Given the description of an element on the screen output the (x, y) to click on. 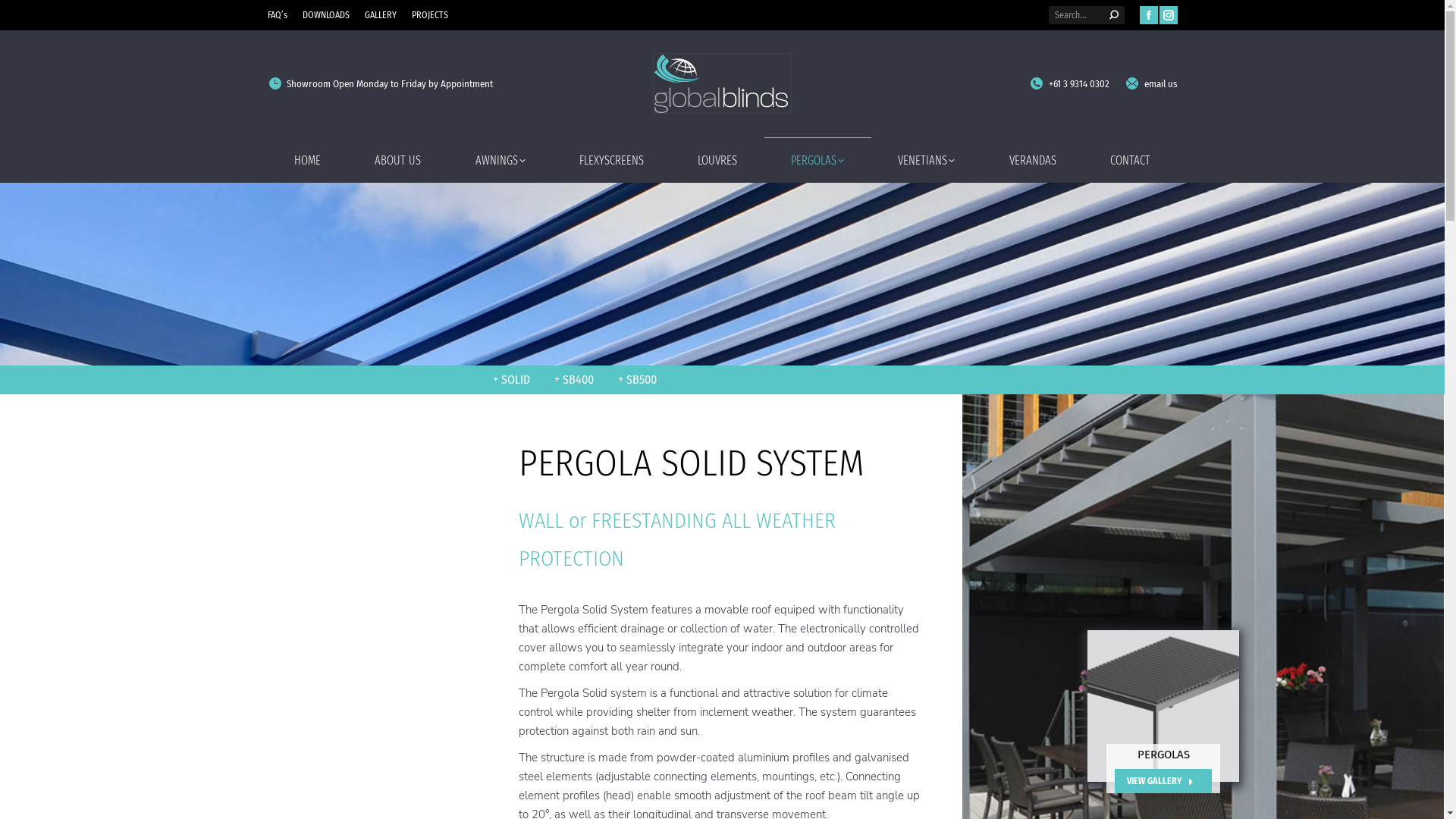
+ SB400 Element type: text (573, 379)
PROJECTS Element type: text (429, 14)
VIEW GALLERY Element type: text (1162, 780)
VENETIANS Element type: text (926, 159)
PERGOLAS Element type: text (817, 159)
VERANDAS Element type: text (1032, 159)
Pergola SB500 Render Element type: hover (1163, 705)
GALLERY Element type: text (379, 14)
LOUVRES Element type: text (716, 159)
DOWNLOADS Element type: text (324, 14)
Go! Element type: text (25, 18)
Search form Element type: hover (1085, 15)
+ SOLID Element type: text (511, 379)
Instagram page opens in new window Element type: text (1167, 15)
PERGOLAS Element type: text (1163, 754)
+ SB500 Element type: text (636, 379)
CONTACT Element type: text (1129, 159)
FLEXYSCREENS Element type: text (611, 159)
Facebook page opens in new window Element type: text (1148, 15)
AWNINGS Element type: text (500, 159)
HOME Element type: text (306, 159)
email us Element type: text (1150, 83)
ABOUT US Element type: text (398, 159)
